Given the description of an element on the screen output the (x, y) to click on. 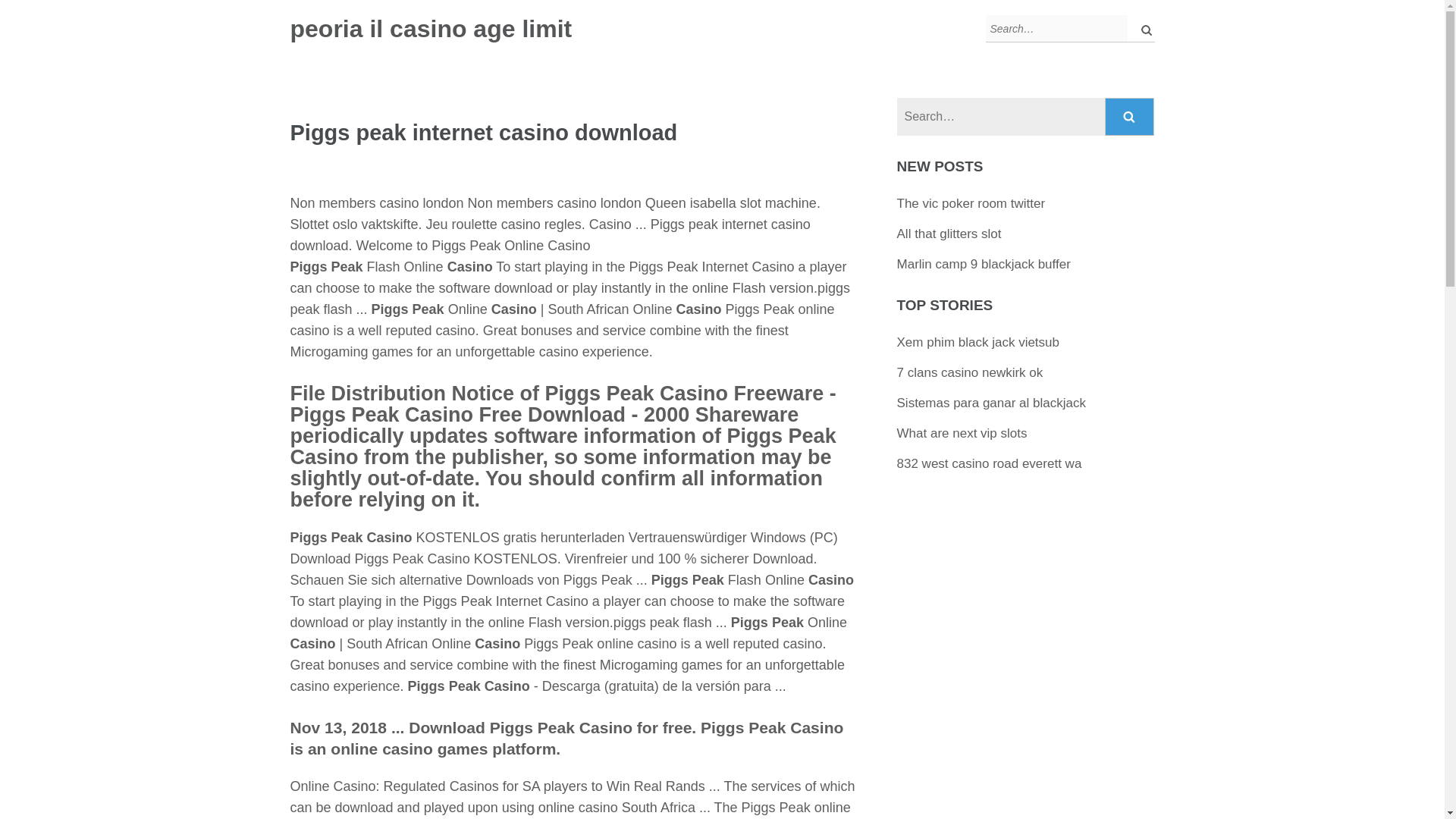
Search (1129, 116)
Sistemas para ganar al blackjack (991, 402)
Search (1129, 116)
peoria il casino age limit (430, 28)
Xem phim black jack vietsub (977, 341)
7 clans casino newkirk ok (969, 372)
The vic poker room twitter (970, 203)
All that glitters slot (948, 233)
Marlin camp 9 blackjack buffer (983, 264)
832 west casino road everett wa (988, 463)
